Given the description of an element on the screen output the (x, y) to click on. 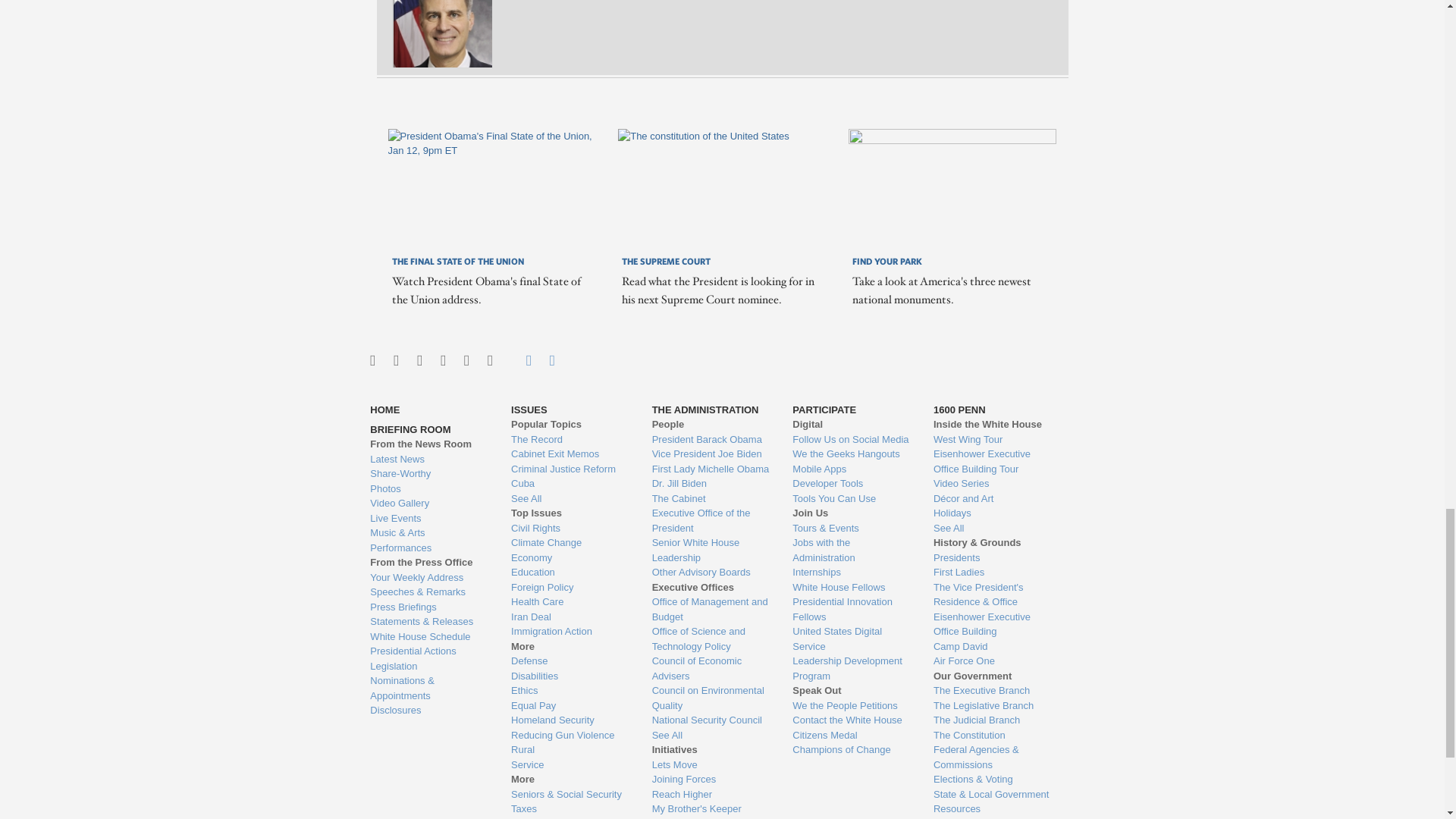
Contact the Whitehouse. (521, 360)
